Given the description of an element on the screen output the (x, y) to click on. 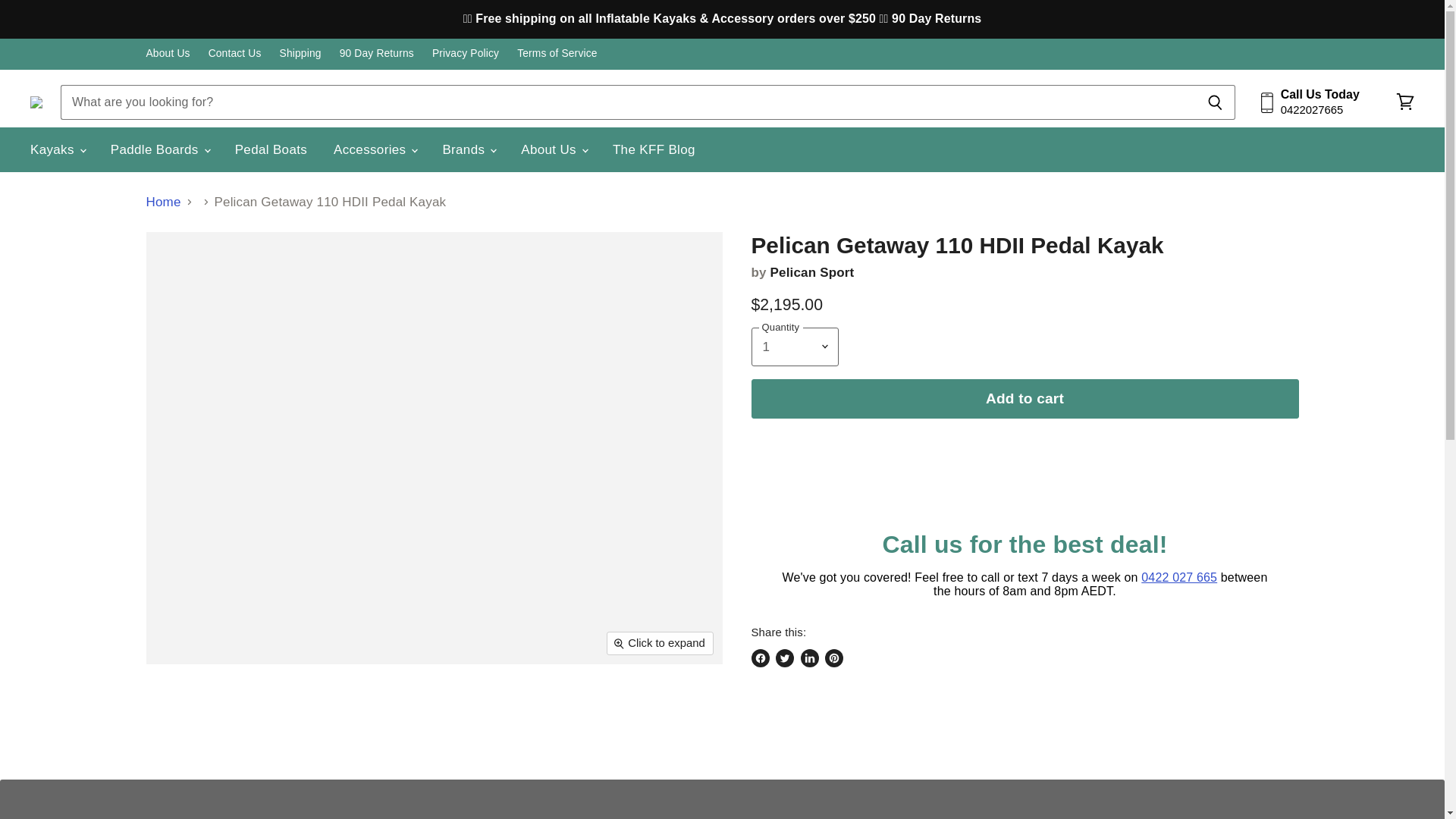
Shipping (300, 53)
Kayaks (57, 149)
Paddle Boards (159, 149)
Accessories (373, 149)
About Us (167, 53)
Terms of Service (556, 53)
Privacy Policy (465, 53)
Pedal Boats (271, 149)
View cart (1405, 102)
Contact Us (235, 53)
